Given the description of an element on the screen output the (x, y) to click on. 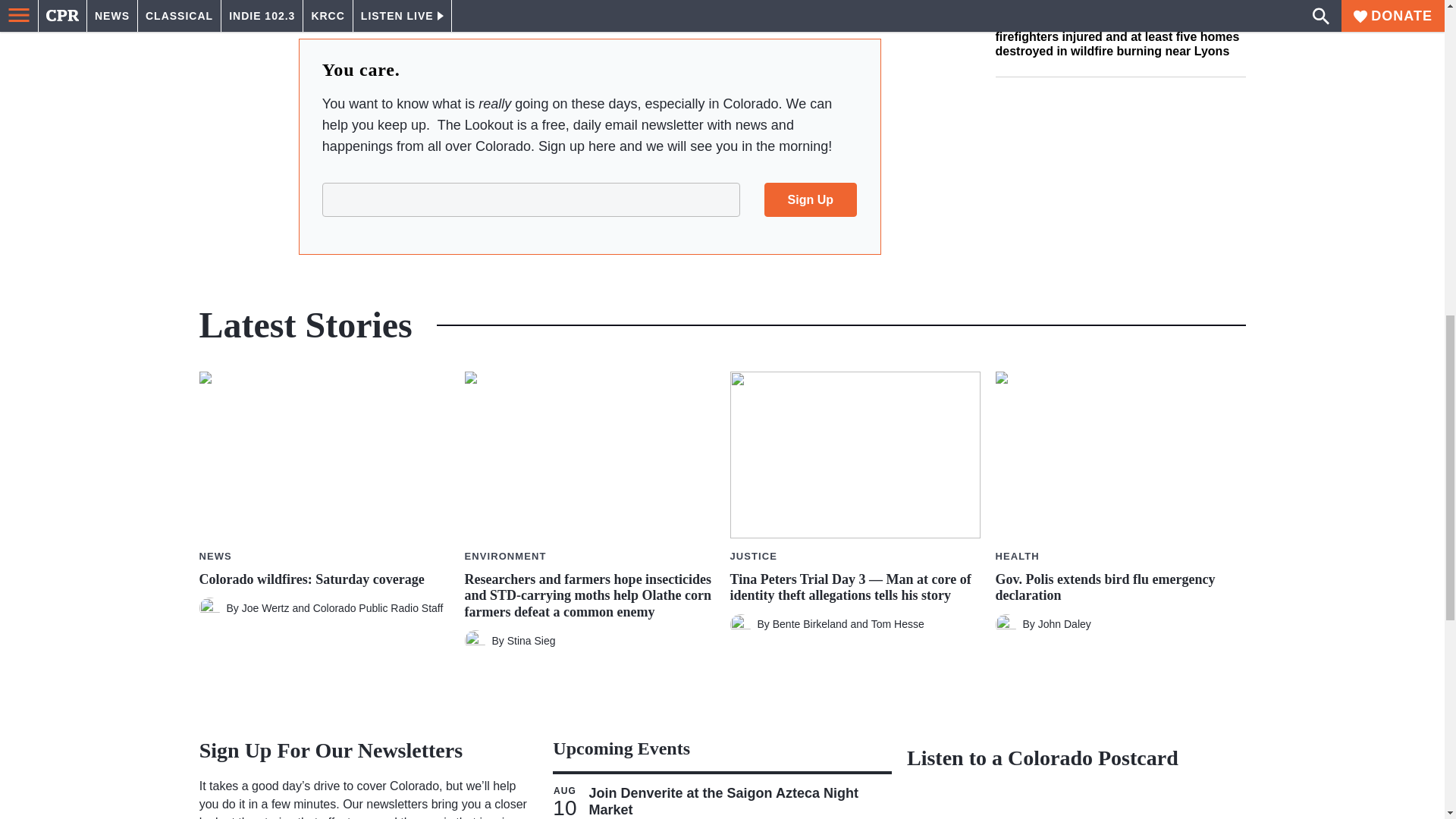
newsArticleSignup (589, 199)
